Given the description of an element on the screen output the (x, y) to click on. 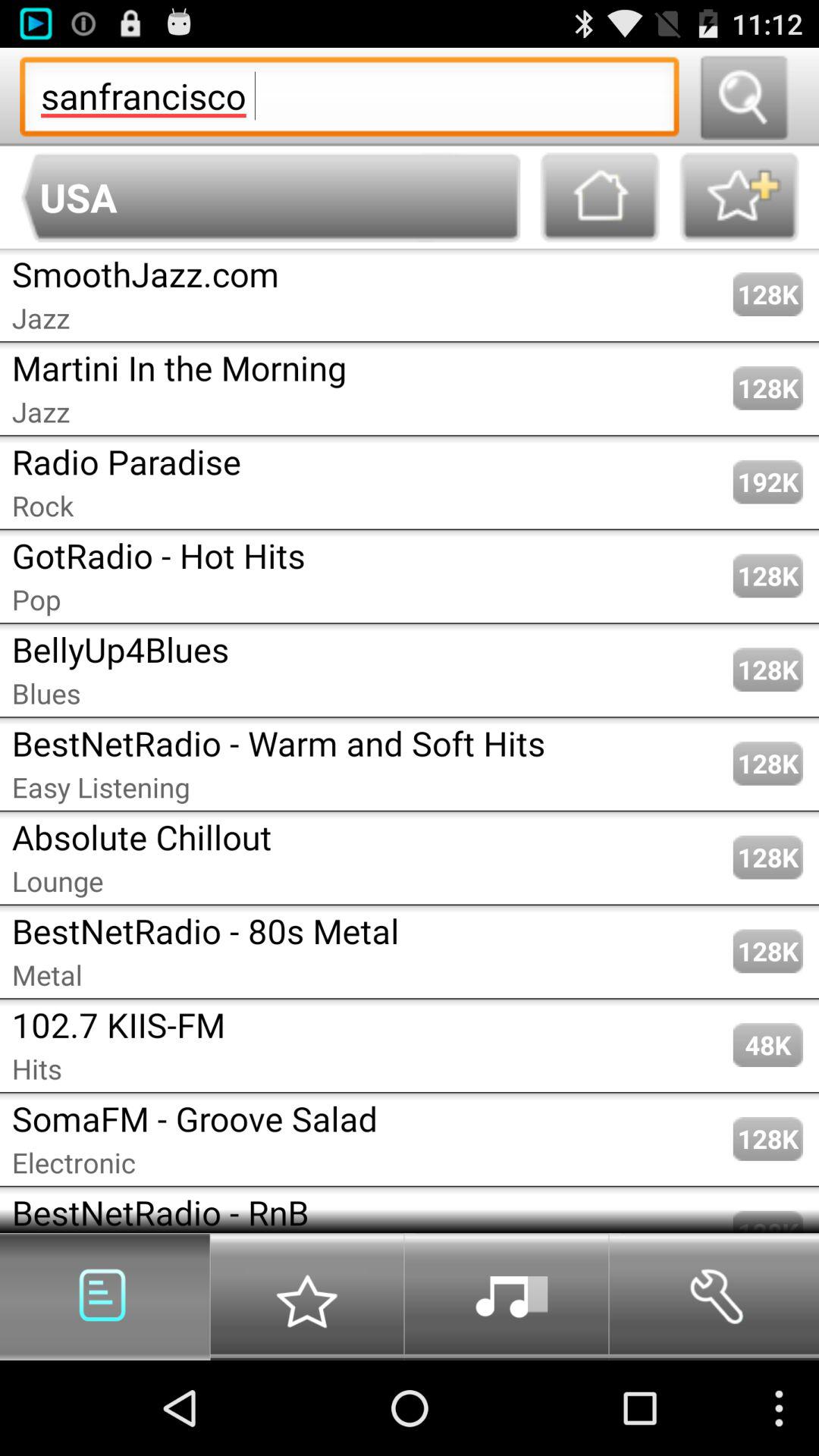
search (743, 96)
